Given the description of an element on the screen output the (x, y) to click on. 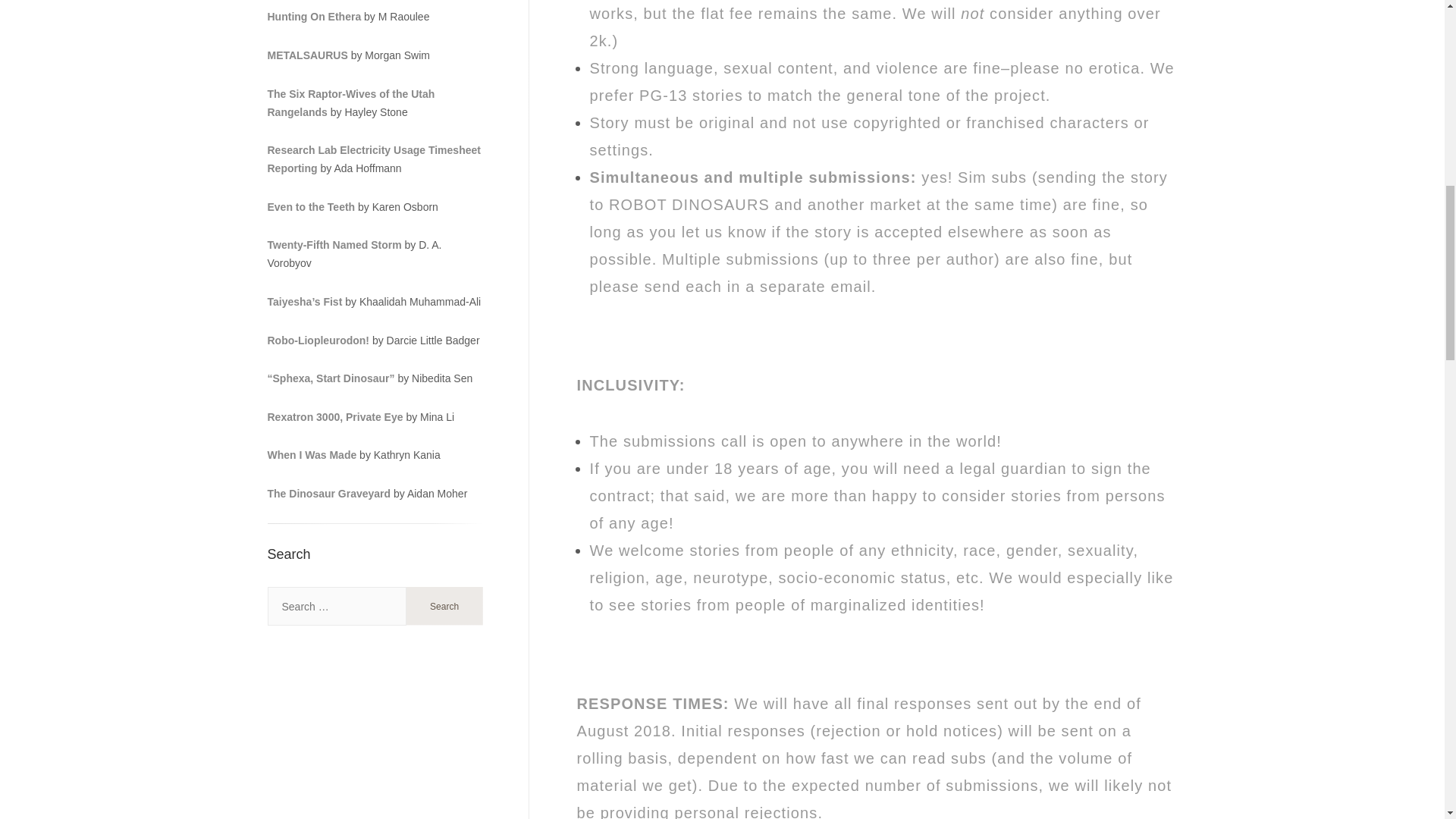
Search (444, 605)
Search (444, 605)
Hunting On Ethera (313, 16)
METALSAURUS (306, 55)
